Given the description of an element on the screen output the (x, y) to click on. 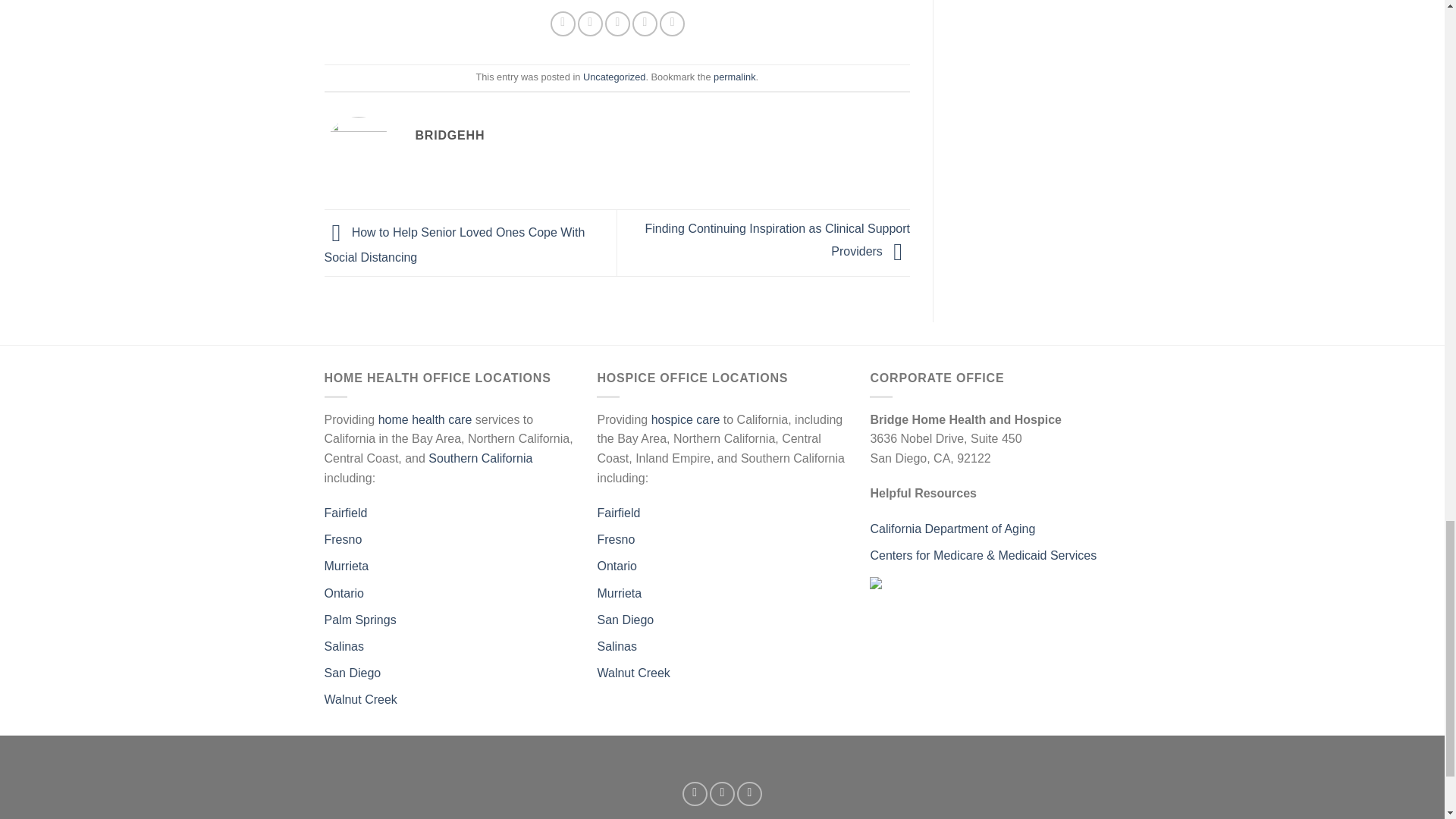
Follow on Instagram (722, 794)
Share on Facebook (562, 23)
permalink (734, 76)
How to Help Senior Loved Ones Cope With Social Distancing (454, 244)
Share on LinkedIn (671, 23)
Follow on LinkedIn (748, 794)
Email to a Friend (617, 23)
Follow on Facebook (694, 794)
Uncategorized (614, 76)
